Given the description of an element on the screen output the (x, y) to click on. 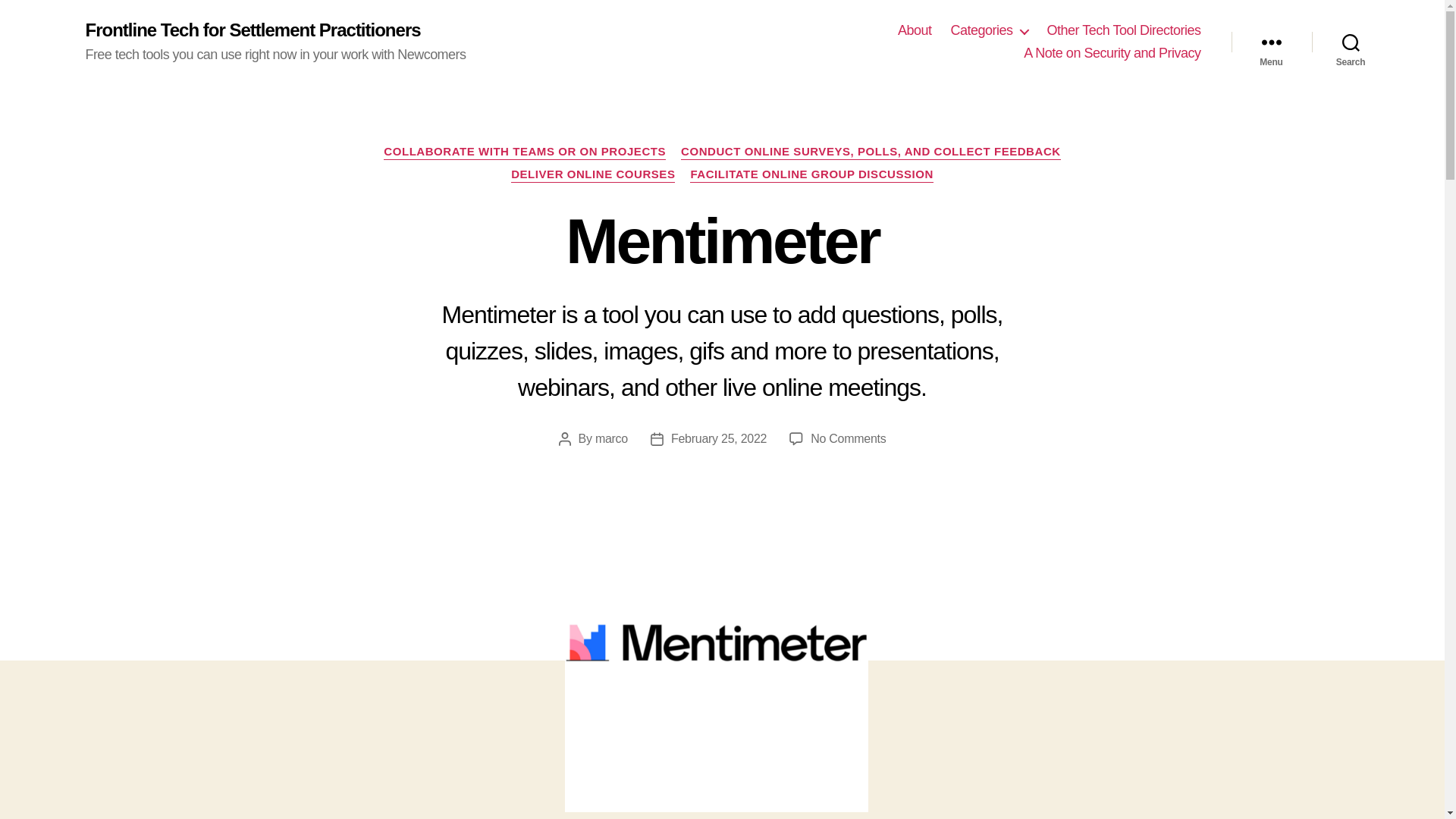
A Note on Security and Privacy (1111, 53)
About (914, 30)
Other Tech Tool Directories (1123, 30)
Menu (1271, 41)
Categories (988, 30)
Search (1350, 41)
Frontline Tech for Settlement Practitioners (252, 30)
